Given the description of an element on the screen output the (x, y) to click on. 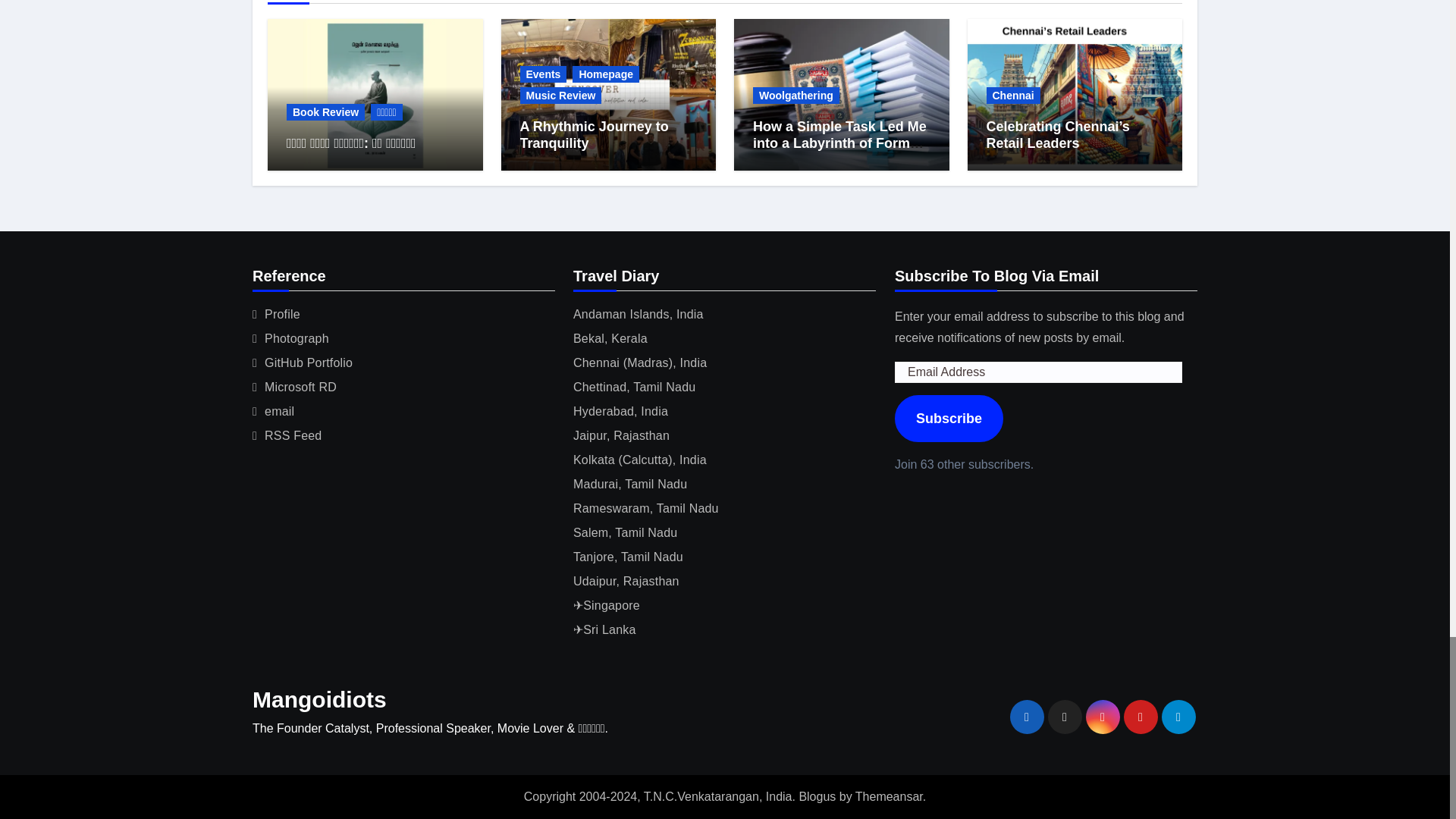
Permalink to: A Rhythmic Journey to Tranquility (593, 134)
Profile (281, 314)
